Given the description of an element on the screen output the (x, y) to click on. 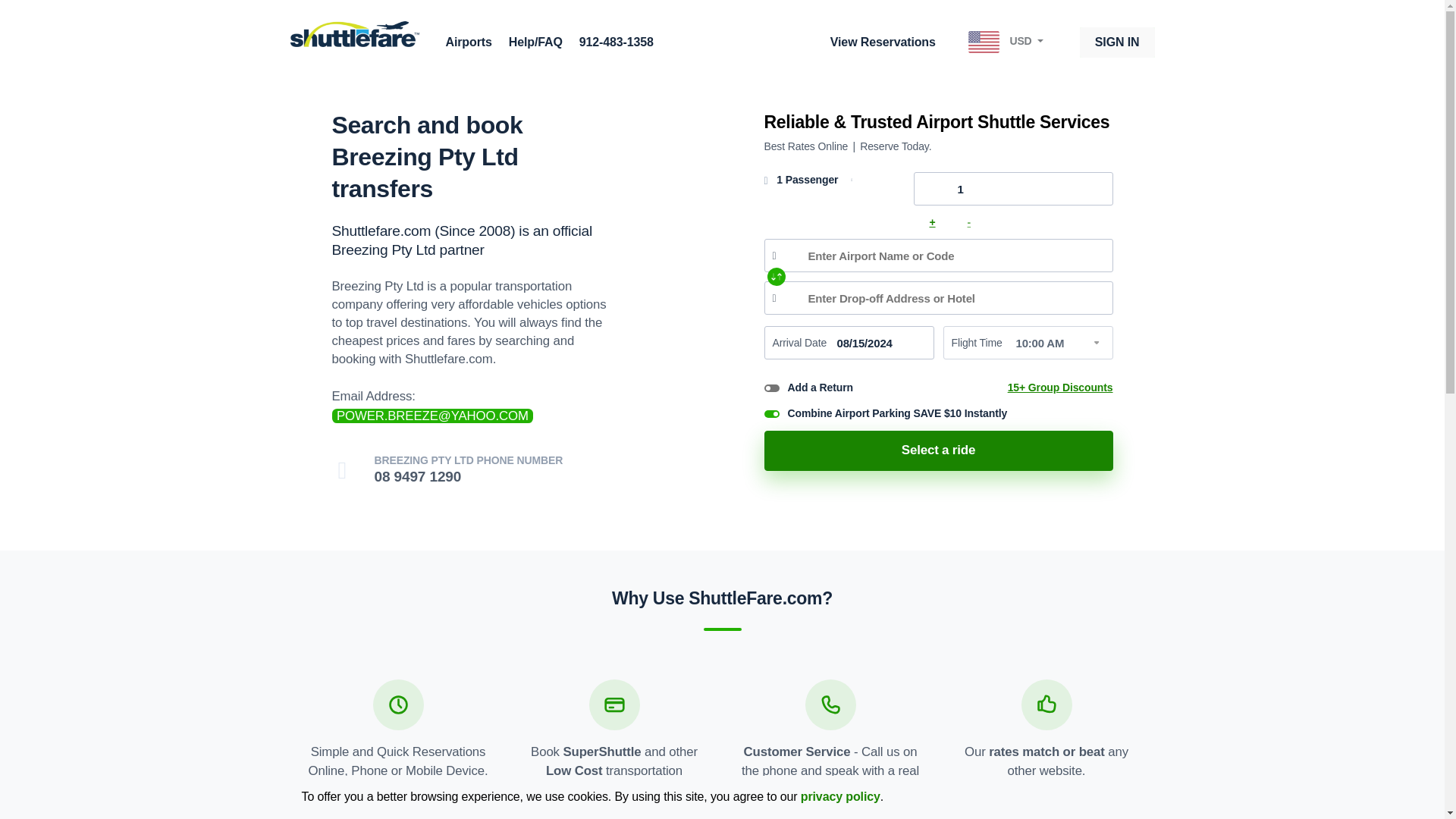
USD (1007, 42)
912-483-1358 (616, 42)
1 (1012, 188)
SIGN IN (1117, 42)
- (969, 222)
privacy policy (840, 796)
Select a ride (475, 470)
View Reservations (938, 450)
